Given the description of an element on the screen output the (x, y) to click on. 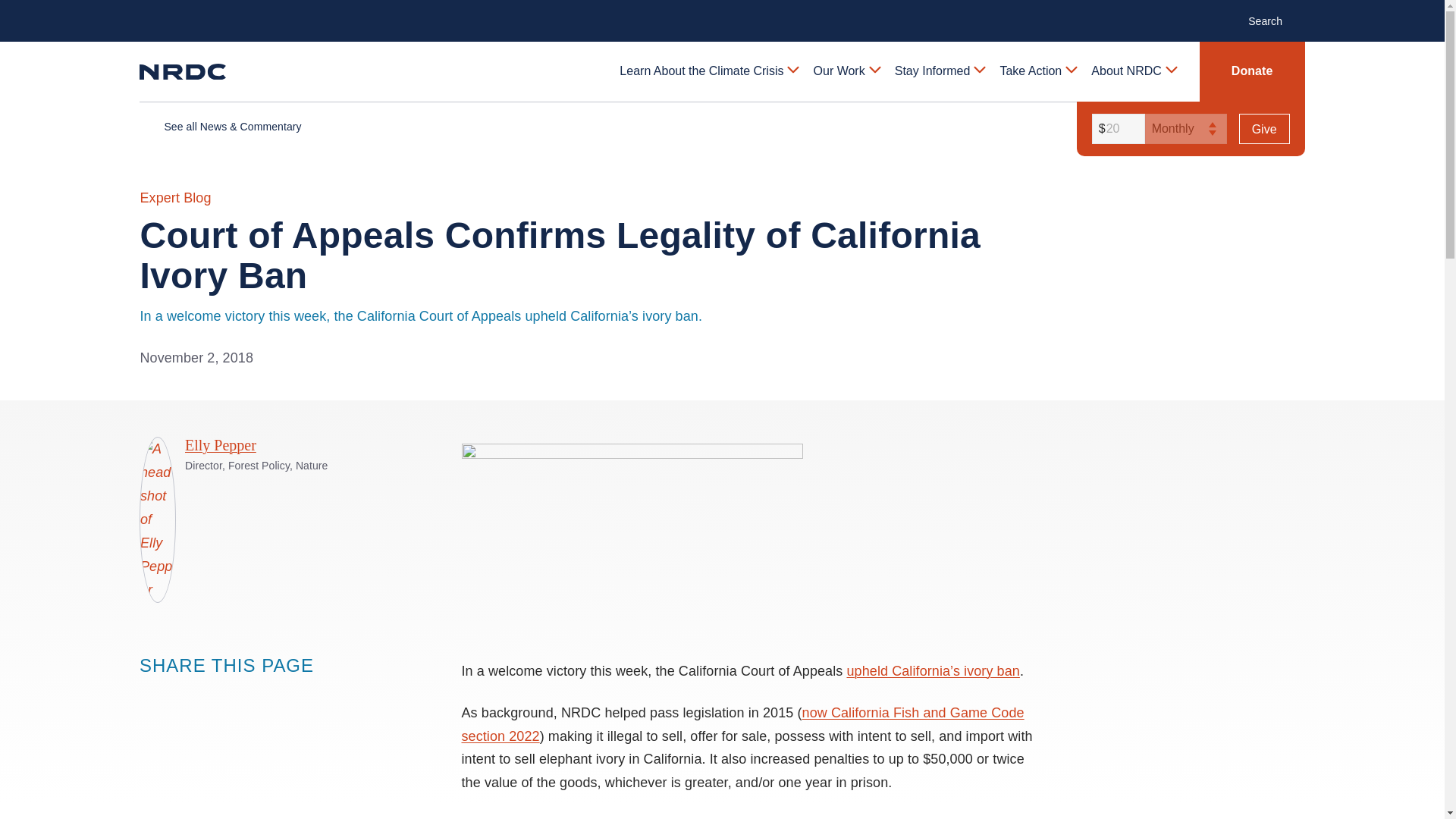
Search (1272, 19)
20 (1116, 128)
Learn About the Climate Crisis (707, 71)
Share this page block (180, 694)
Share this page block (149, 694)
Our Work (846, 71)
Share this page block (210, 694)
Skip to main content (721, 12)
Stay Informed (939, 71)
